Given the description of an element on the screen output the (x, y) to click on. 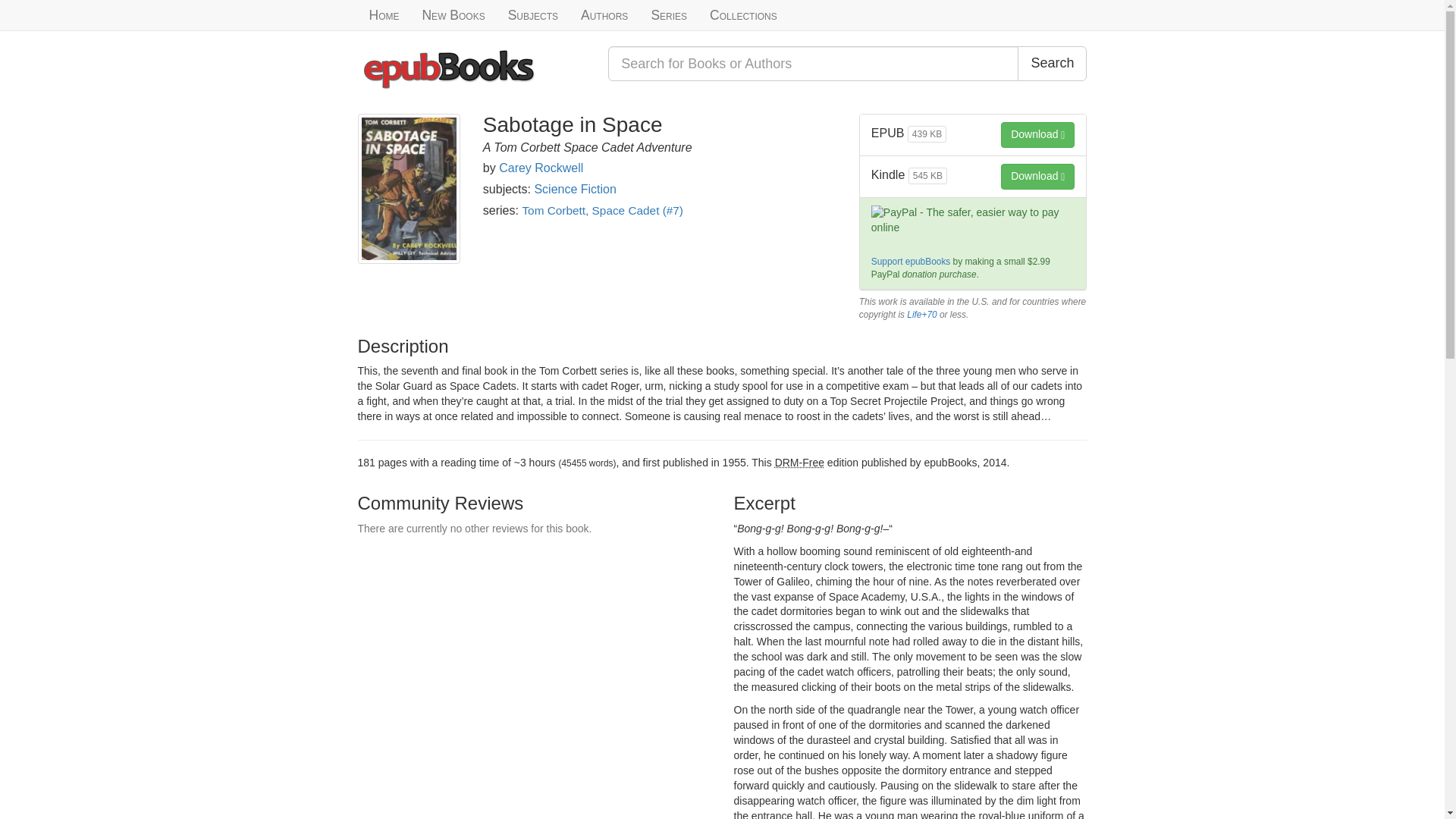
Support epubBooks (910, 261)
Science Fiction (574, 188)
Search (1051, 63)
Collections (743, 15)
Carey Rockwell (541, 167)
Series (668, 15)
Home (384, 15)
Download (1037, 135)
Subjects (532, 15)
New Books (453, 15)
